Given the description of an element on the screen output the (x, y) to click on. 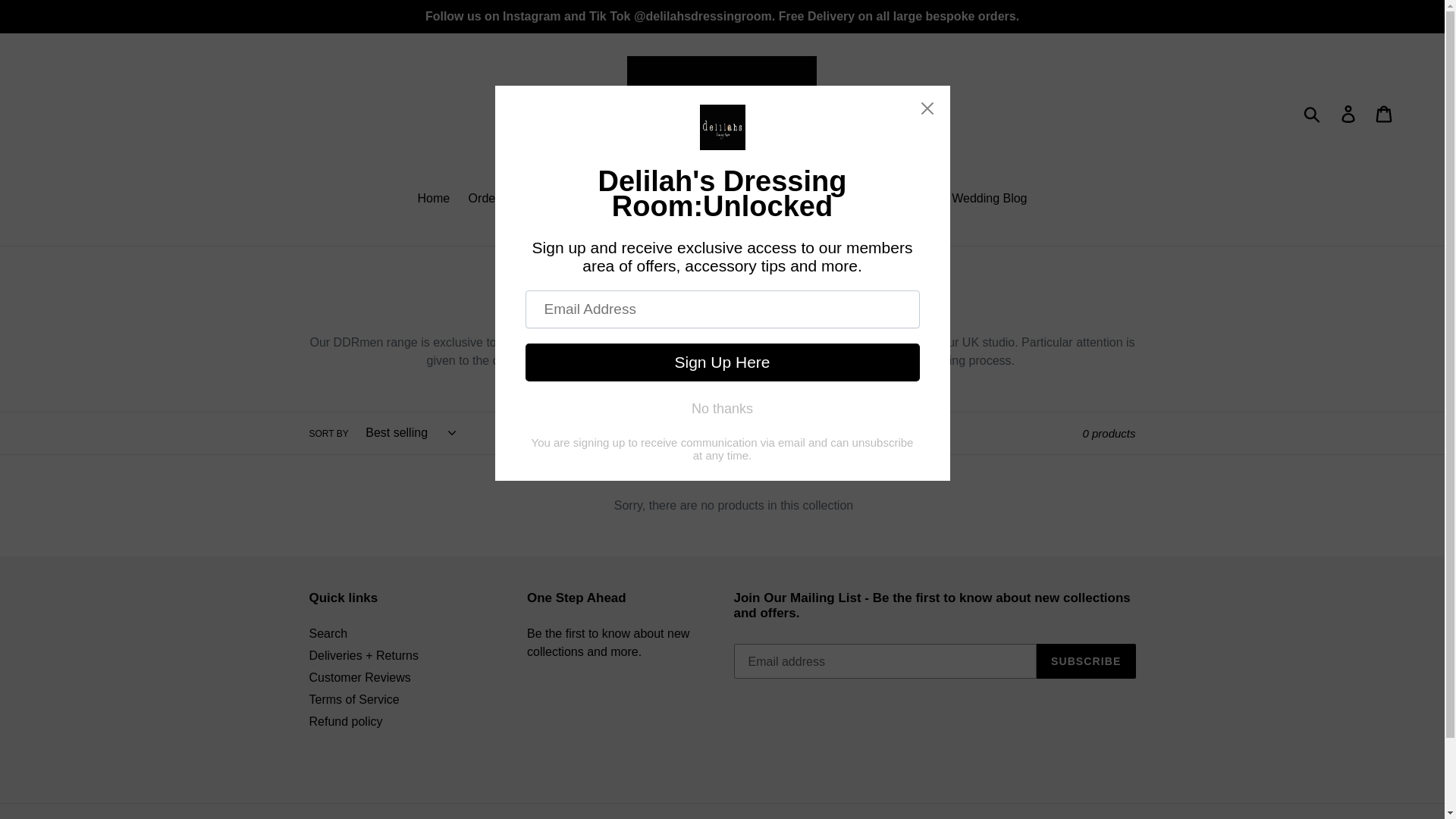
Cart (1385, 112)
Log in (1349, 112)
Order Bespoke Accessories (543, 199)
SUBSCRIBE (1085, 660)
Search (327, 633)
Home (433, 199)
Customer Reviews (359, 676)
Press (721, 199)
Wedding Blog (988, 199)
Our Story (661, 199)
